Given the description of an element on the screen output the (x, y) to click on. 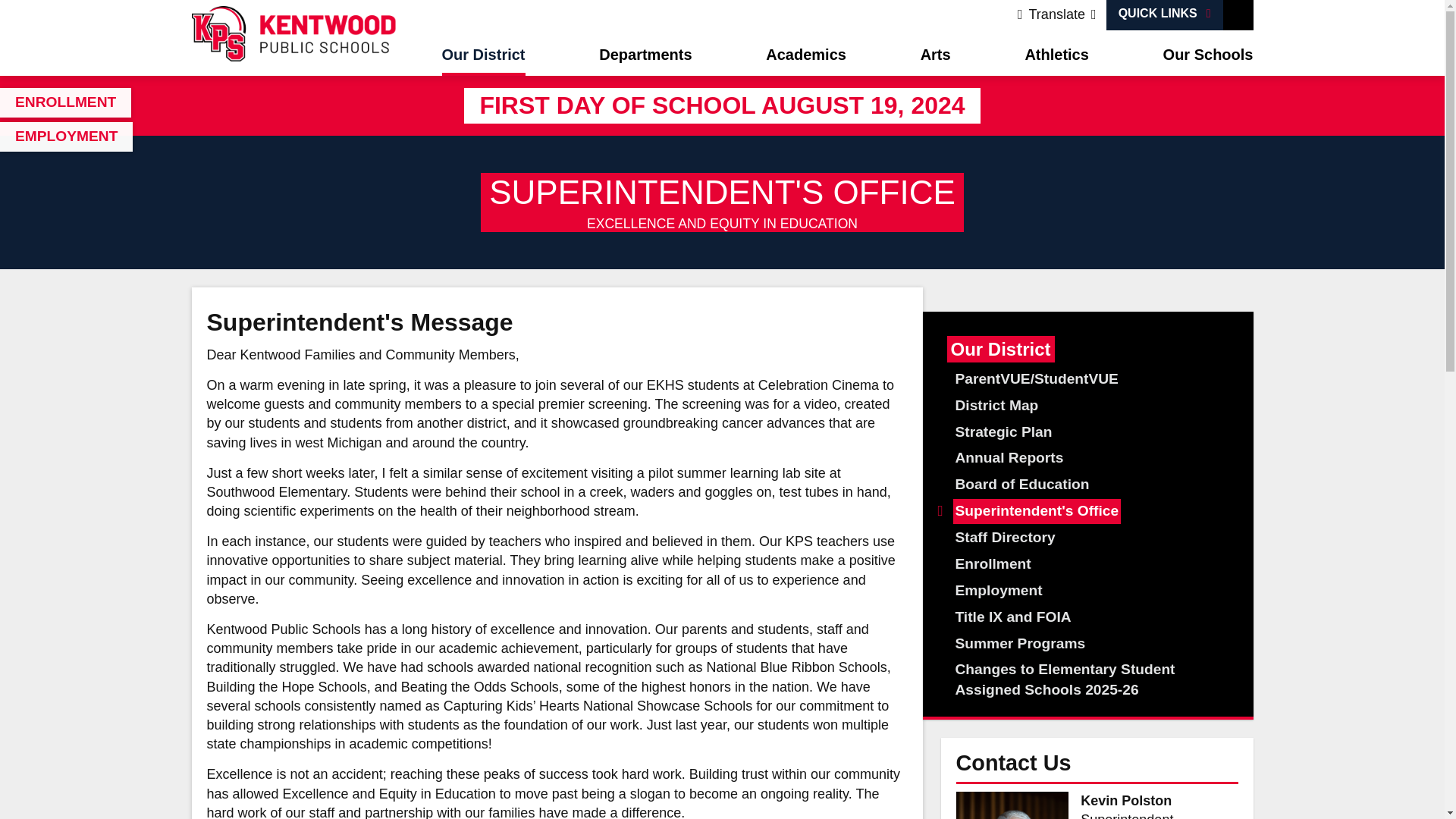
Departments (644, 56)
Search (1237, 15)
Our District (482, 56)
